Given the description of an element on the screen output the (x, y) to click on. 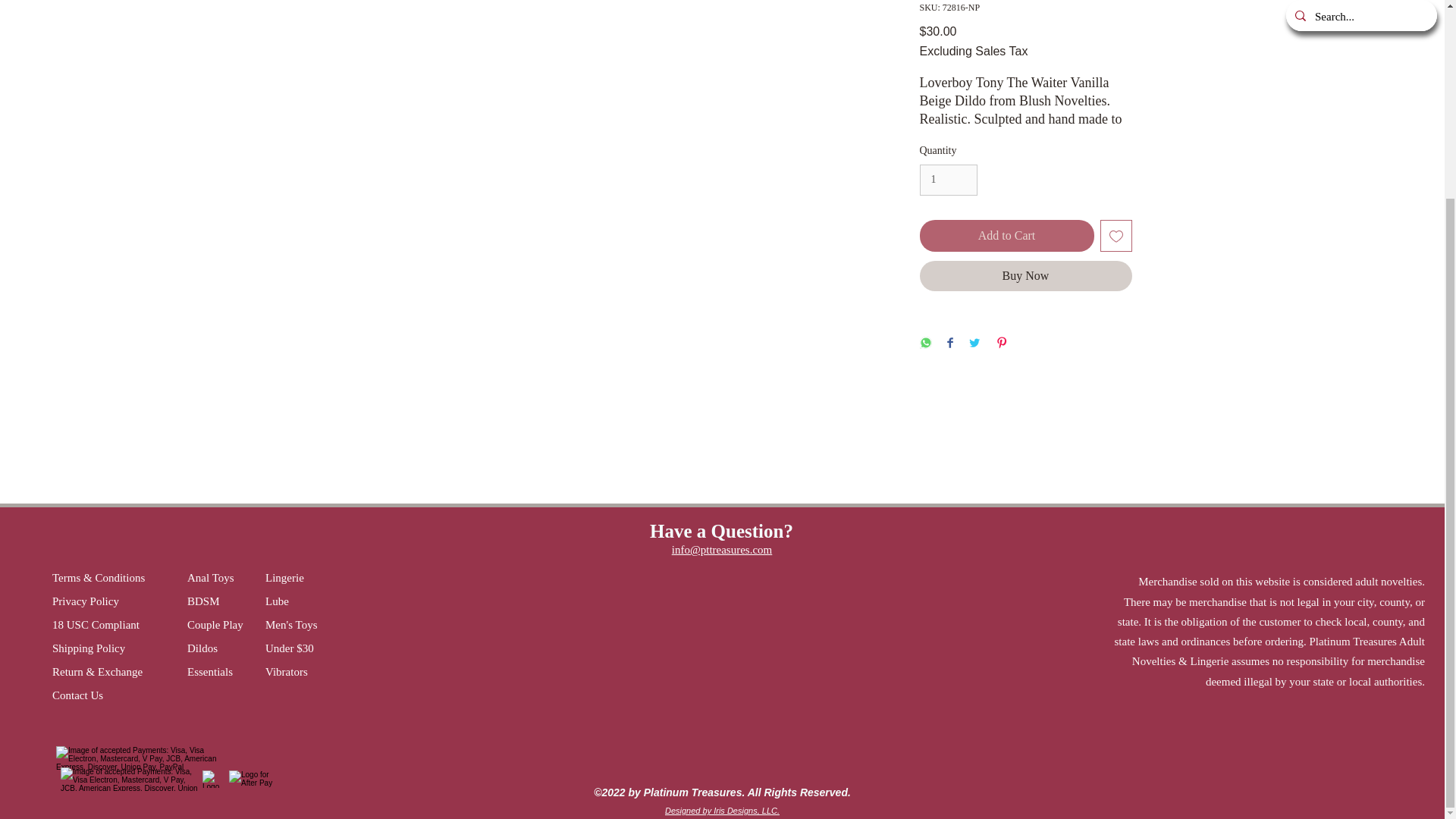
Anal Toys (225, 577)
Buy Now (1024, 276)
Platinum Treasures Accepted Payments (140, 759)
Contact Us (111, 695)
Add to Cart (1005, 235)
Dildos (220, 648)
Shipping Policy (111, 648)
Lingerie (297, 577)
Designed by Iris Designs, LLC. (721, 809)
Platinum Treasures Accepted Payments (210, 778)
